Given the description of an element on the screen output the (x, y) to click on. 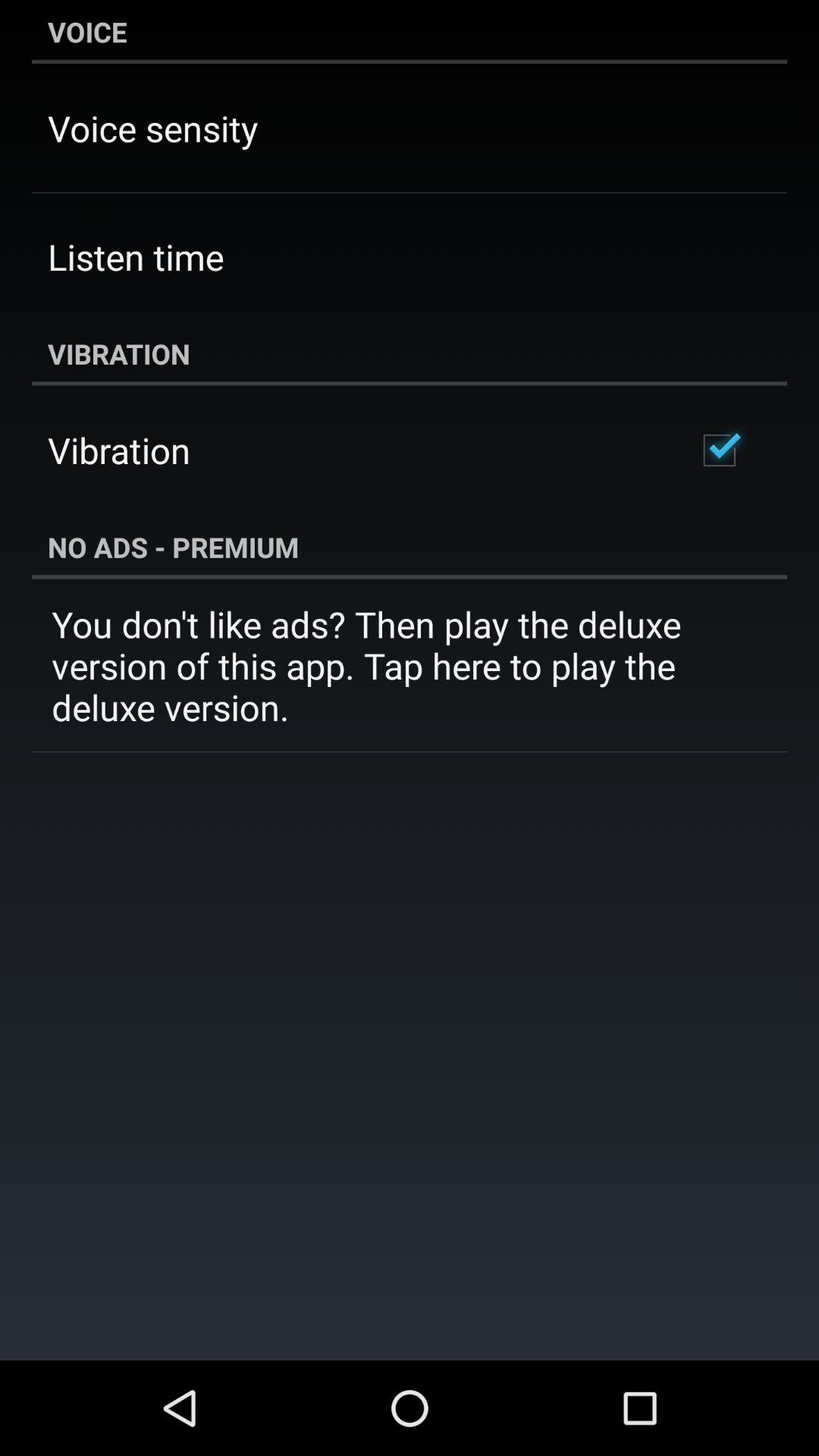
swipe until voice sensity item (152, 128)
